Given the description of an element on the screen output the (x, y) to click on. 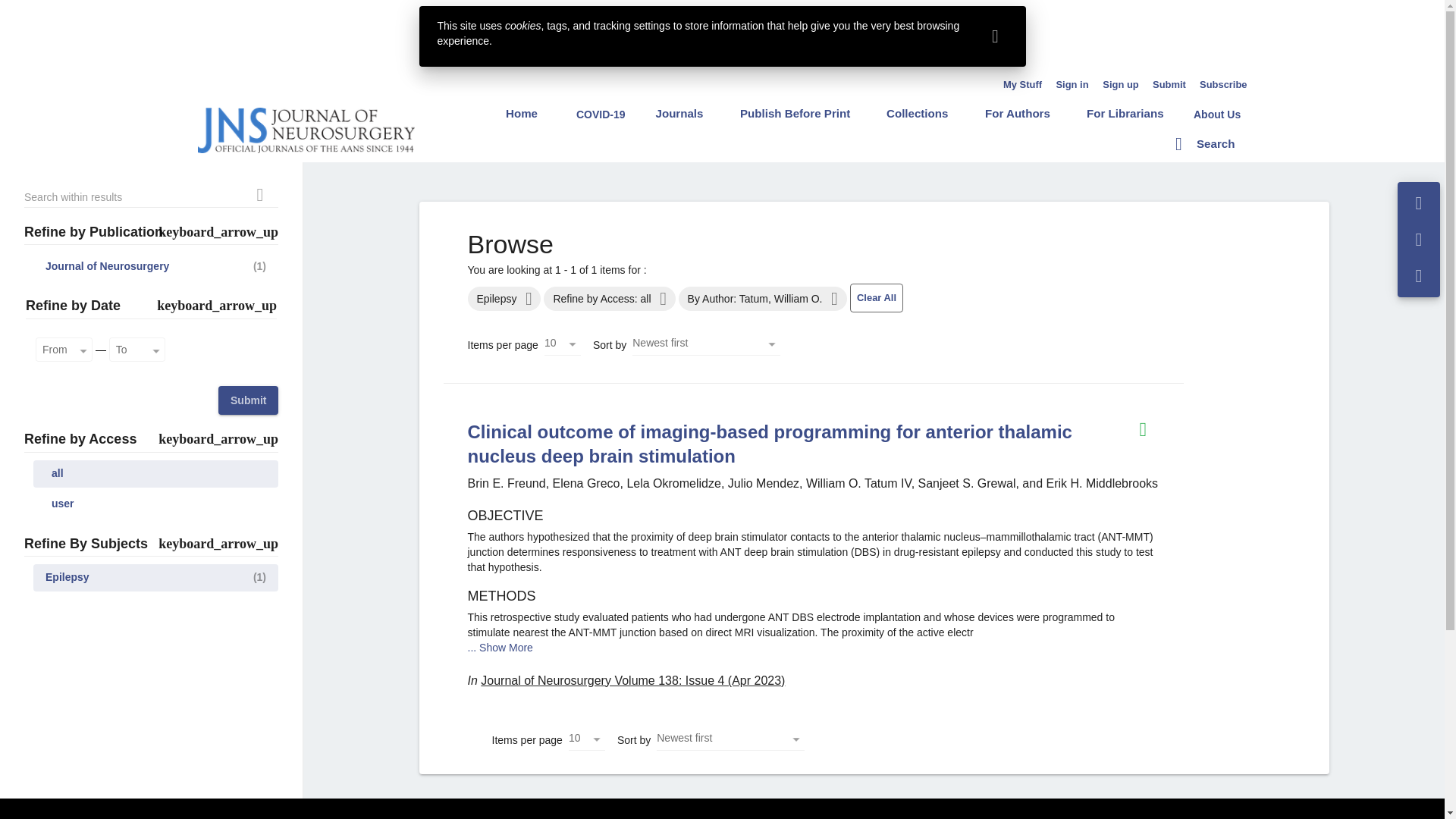
For Librarians (1125, 113)
Search (1204, 143)
My Stuff (1022, 84)
About Us (1216, 113)
Submit (1168, 84)
Subscribe (1223, 84)
Dismiss this warning (994, 36)
About Us (1216, 113)
Email this link (1418, 239)
For Authors (1017, 113)
Home (521, 113)
Collections (916, 113)
Publish Before Print (794, 113)
Journals (679, 113)
Jump to Content (40, 8)
